Given the description of an element on the screen output the (x, y) to click on. 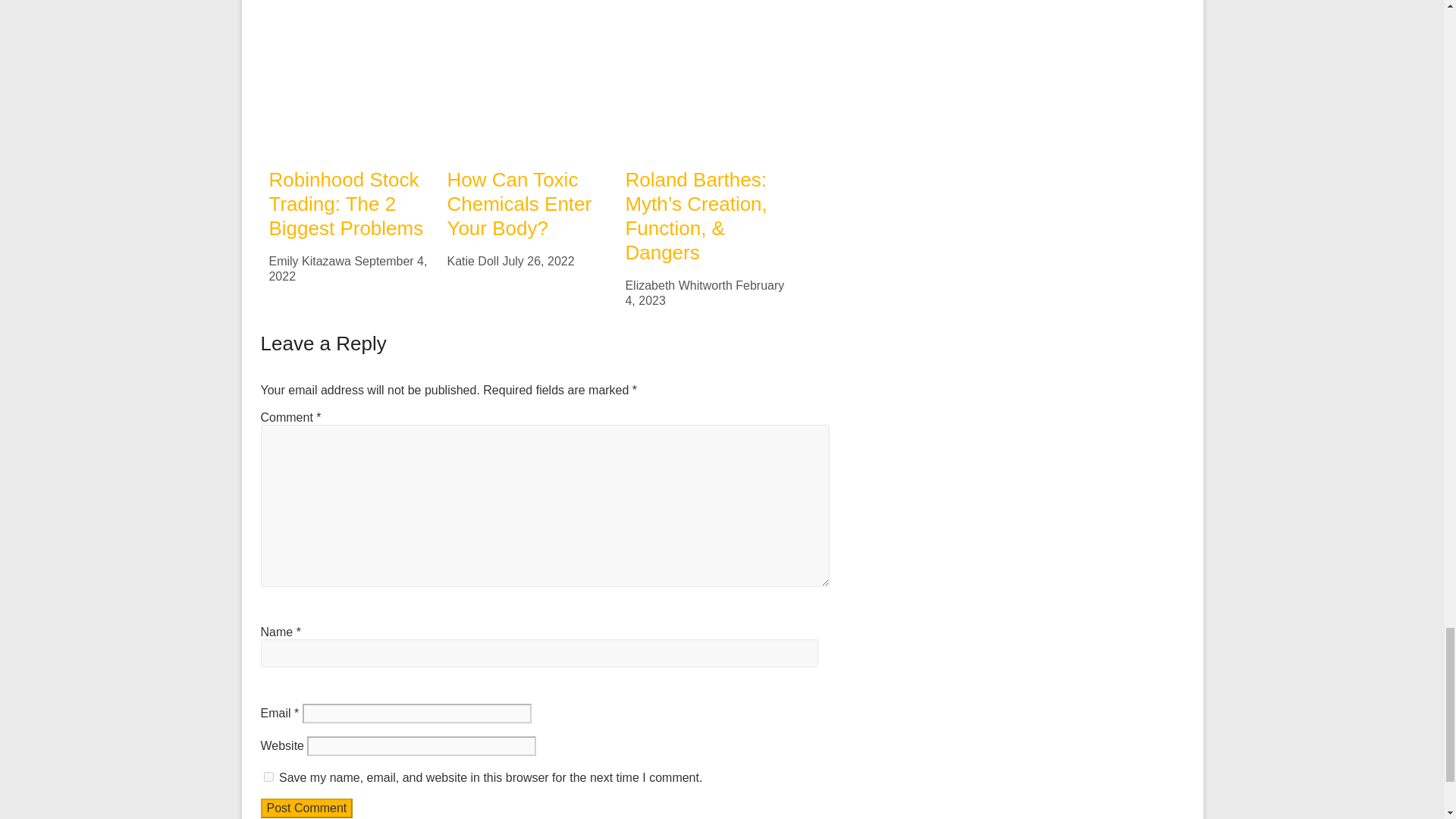
Robinhood Stock Trading: The 2 Biggest Problems (348, 2)
yes (268, 777)
Post Comment (306, 808)
